Given the description of an element on the screen output the (x, y) to click on. 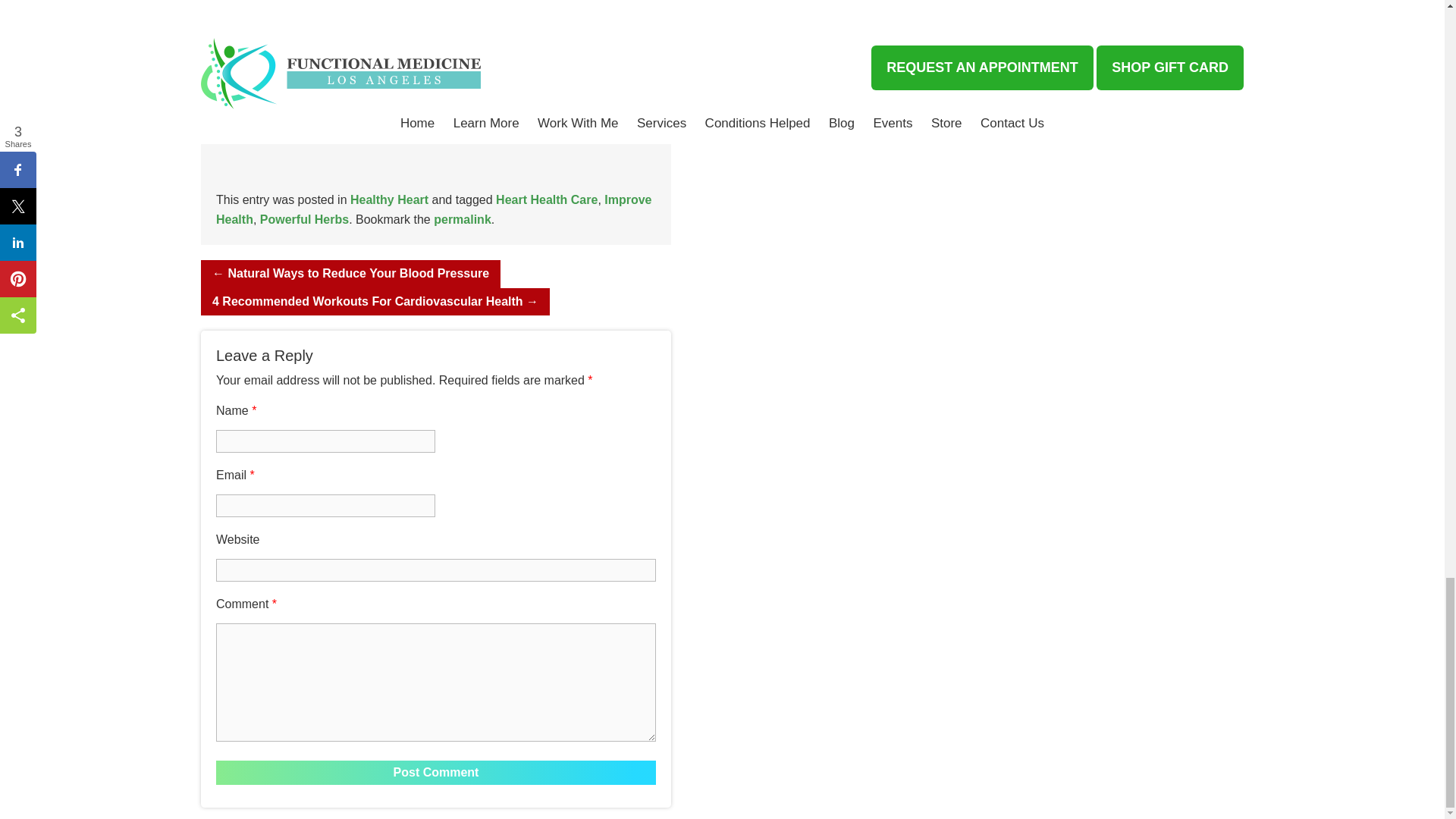
Improve Health (433, 209)
Powerful Herbs (304, 219)
permalink (462, 219)
Post Comment (435, 772)
Post Comment (435, 772)
Healthy Heart (389, 199)
Heart Health Care (546, 199)
Permalink to 5 Powerful Herbs For Heart Health (462, 219)
